Given the description of an element on the screen output the (x, y) to click on. 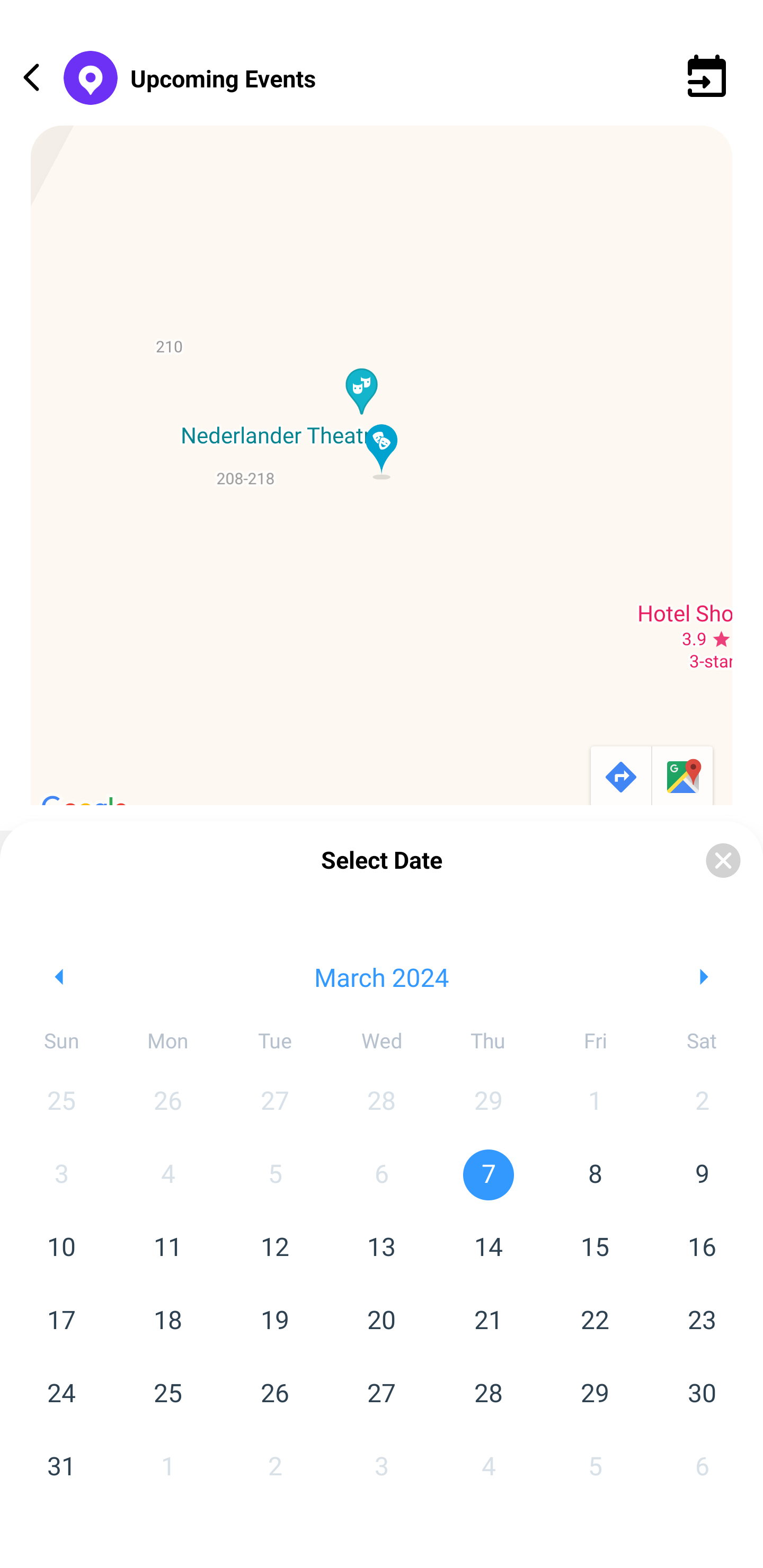
 Sunday 25 February 2024  25 (60, 1101)
 Monday 26 February 2024  26 (167, 1101)
 Tuesday 27 February 2024  27 (274, 1101)
 Wednesday 28 February 2024  28 (381, 1101)
 Thursday 29 February 2024  29 (488, 1101)
 Friday 1 March 2024  1 (594, 1101)
 Saturday 2 March 2024  2 (701, 1101)
 Sunday 3 March 2024  3 (60, 1175)
 Monday 4 March 2024  4 (167, 1175)
 Tuesday 5 March 2024  5 (274, 1175)
 Wednesday 6 March 2024  6 (381, 1175)
 Friday 8 March 2024  8 (594, 1175)
 Saturday 9 March 2024  9 (701, 1175)
 Sunday 10 March 2024  10 (60, 1248)
 Monday 11 March 2024  11 (167, 1248)
 Tuesday 12 March 2024  12 (274, 1248)
 Wednesday 13 March 2024  13 (381, 1248)
 Thursday 14 March 2024  14 (488, 1248)
 Friday 15 March 2024  15 (594, 1248)
 Saturday 16 March 2024  16 (701, 1248)
 Sunday 17 March 2024  17 (60, 1320)
 Monday 18 March 2024  18 (167, 1320)
 Tuesday 19 March 2024  19 (274, 1320)
 Wednesday 20 March 2024  20 (381, 1320)
 Thursday 21 March 2024  21 (488, 1320)
 Friday 22 March 2024  22 (594, 1320)
 Saturday 23 March 2024  23 (701, 1320)
 Sunday 24 March 2024  24 (60, 1393)
 Monday 25 March 2024  25 (167, 1393)
 Tuesday 26 March 2024  26 (274, 1393)
 Wednesday 27 March 2024  27 (381, 1393)
 Thursday 28 March 2024  28 (488, 1393)
 Friday 29 March 2024  29 (594, 1393)
 Saturday 30 March 2024  30 (701, 1393)
 Sunday 31 March 2024  31 (60, 1467)
 Monday 1 April 2024  1 (167, 1467)
 Tuesday 2 April 2024  2 (274, 1467)
 Wednesday 3 April 2024  3 (381, 1467)
 Thursday 4 April 2024  4 (488, 1467)
 Friday 5 April 2024  5 (594, 1467)
 Saturday 6 April 2024  6 (701, 1467)
